Given the description of an element on the screen output the (x, y) to click on. 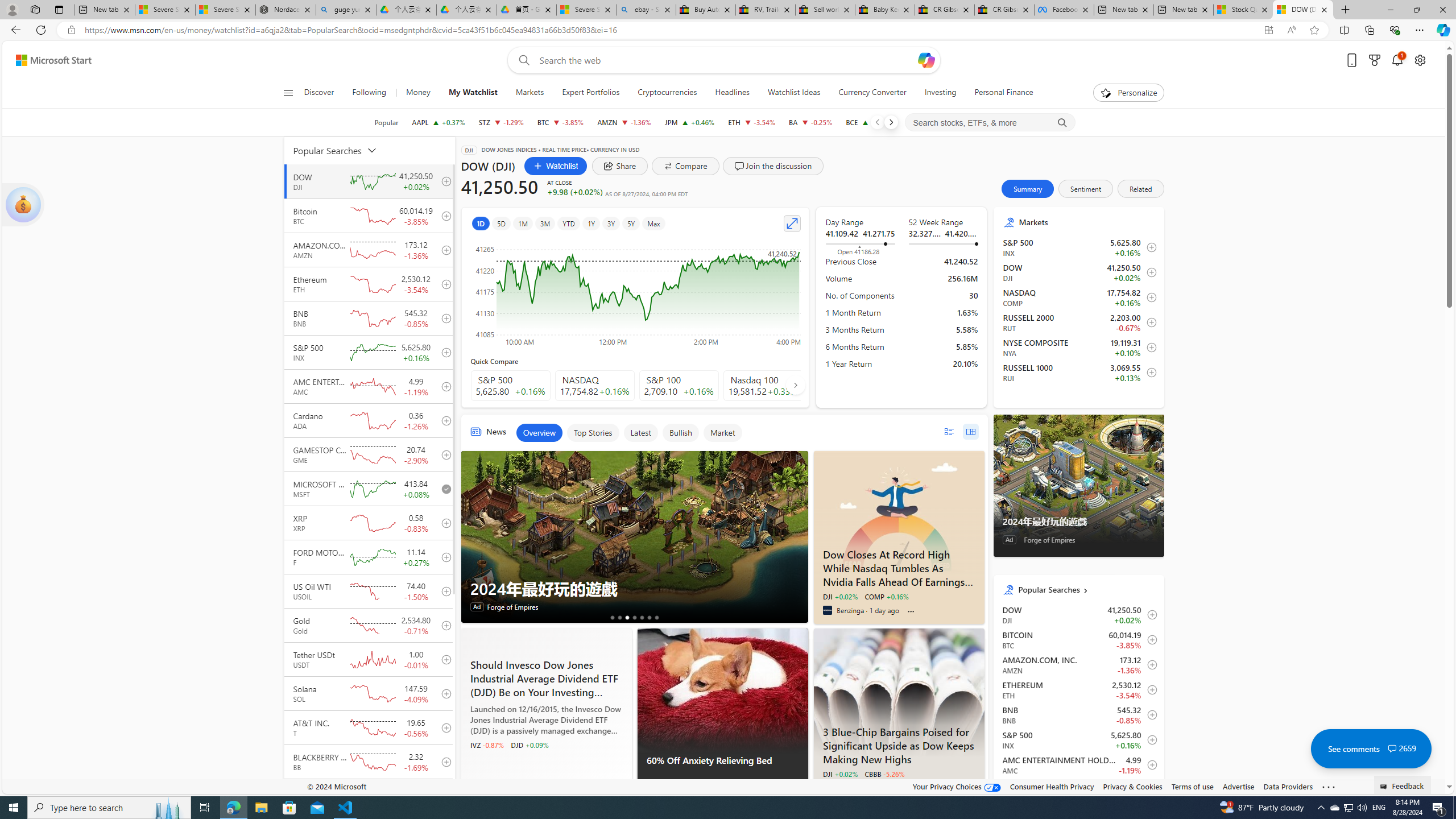
CBBB -5.26% (883, 773)
Web search (520, 60)
Top Stories (592, 432)
3M (545, 223)
Skip to content (49, 59)
Add to Watchlist (1148, 790)
grid layout (970, 431)
Terms of use (1192, 785)
